Given the description of an element on the screen output the (x, y) to click on. 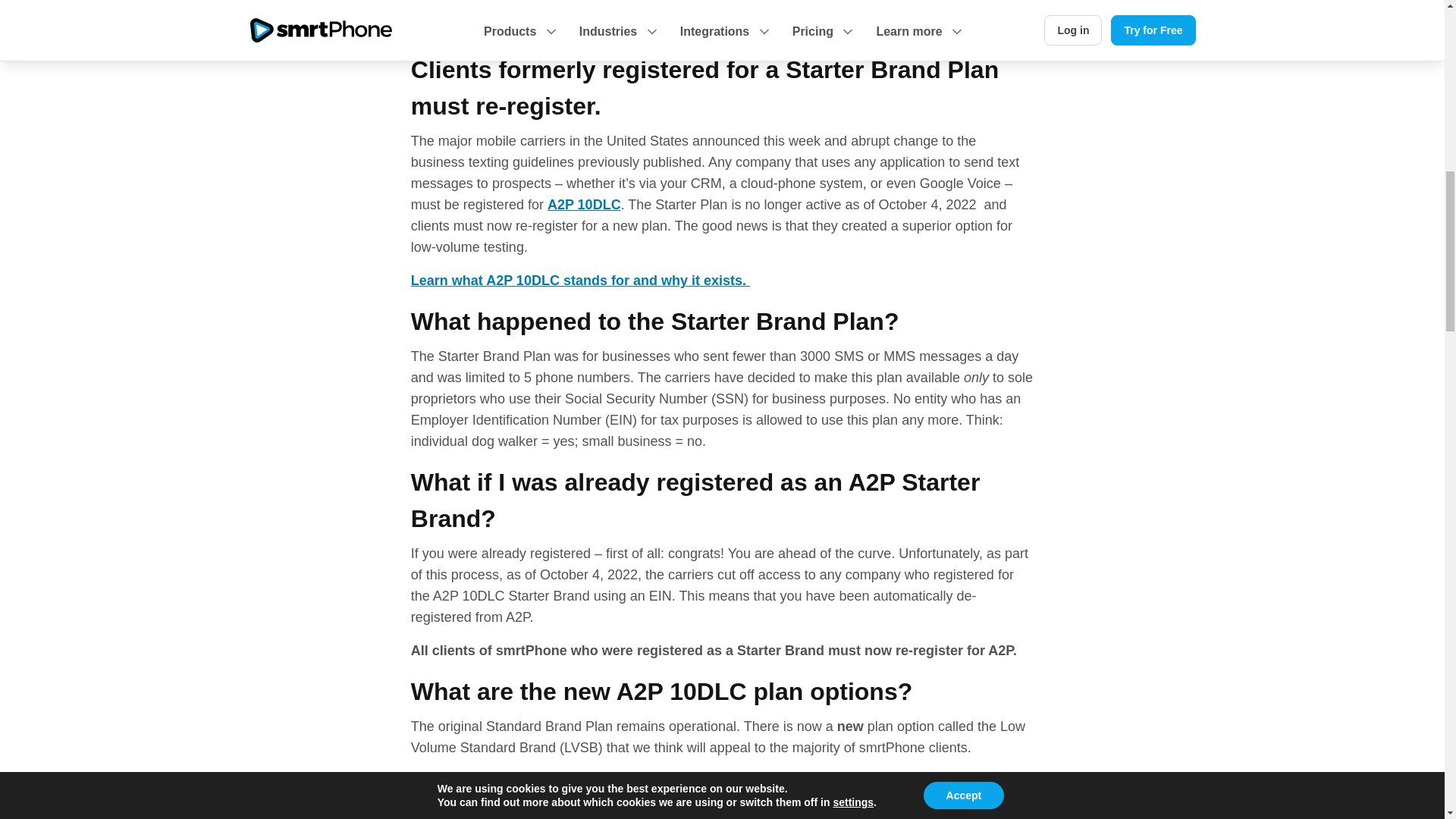
A2P 10DLC (584, 204)
